Given the description of an element on the screen output the (x, y) to click on. 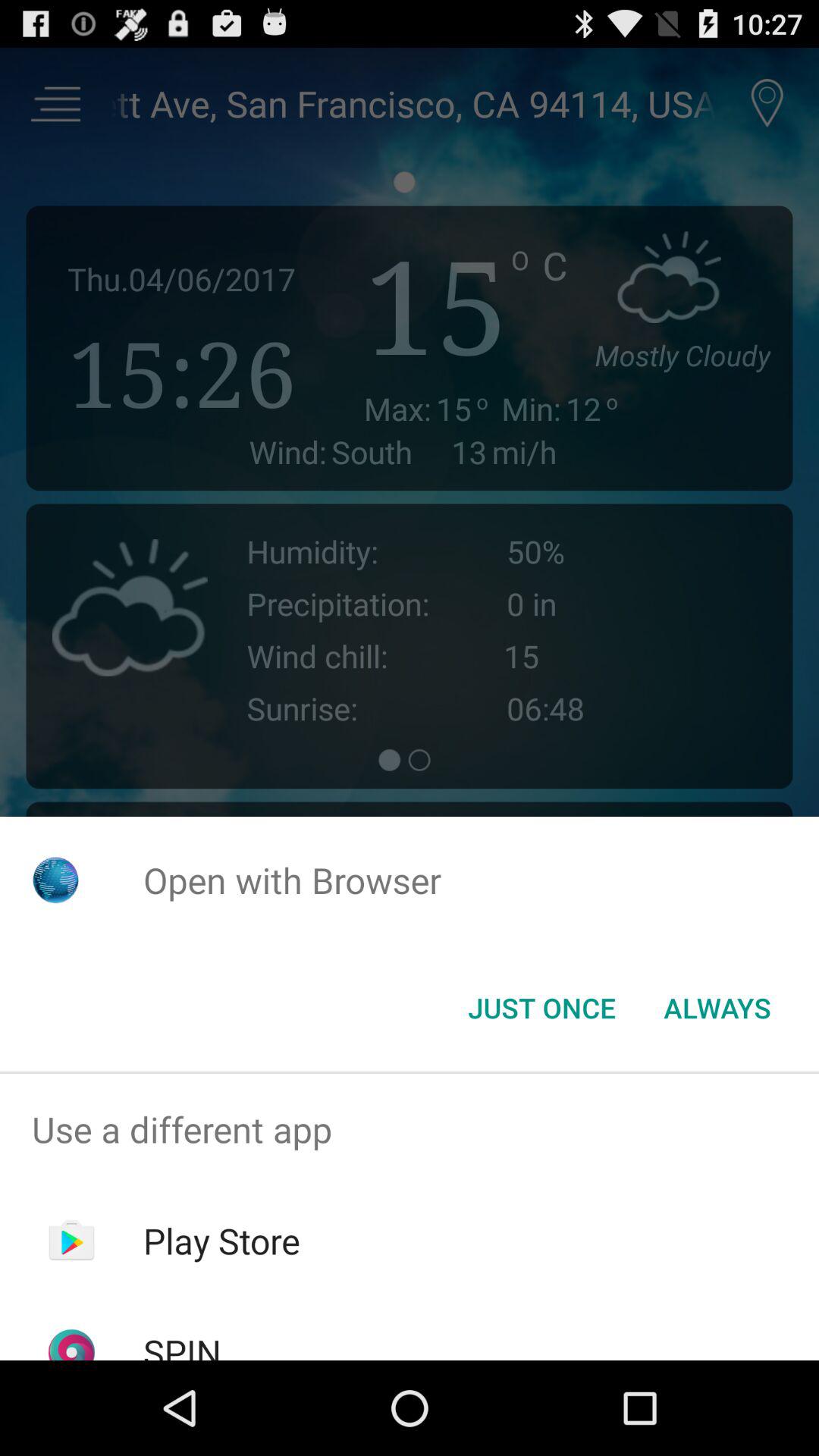
press the icon above spin icon (221, 1240)
